Given the description of an element on the screen output the (x, y) to click on. 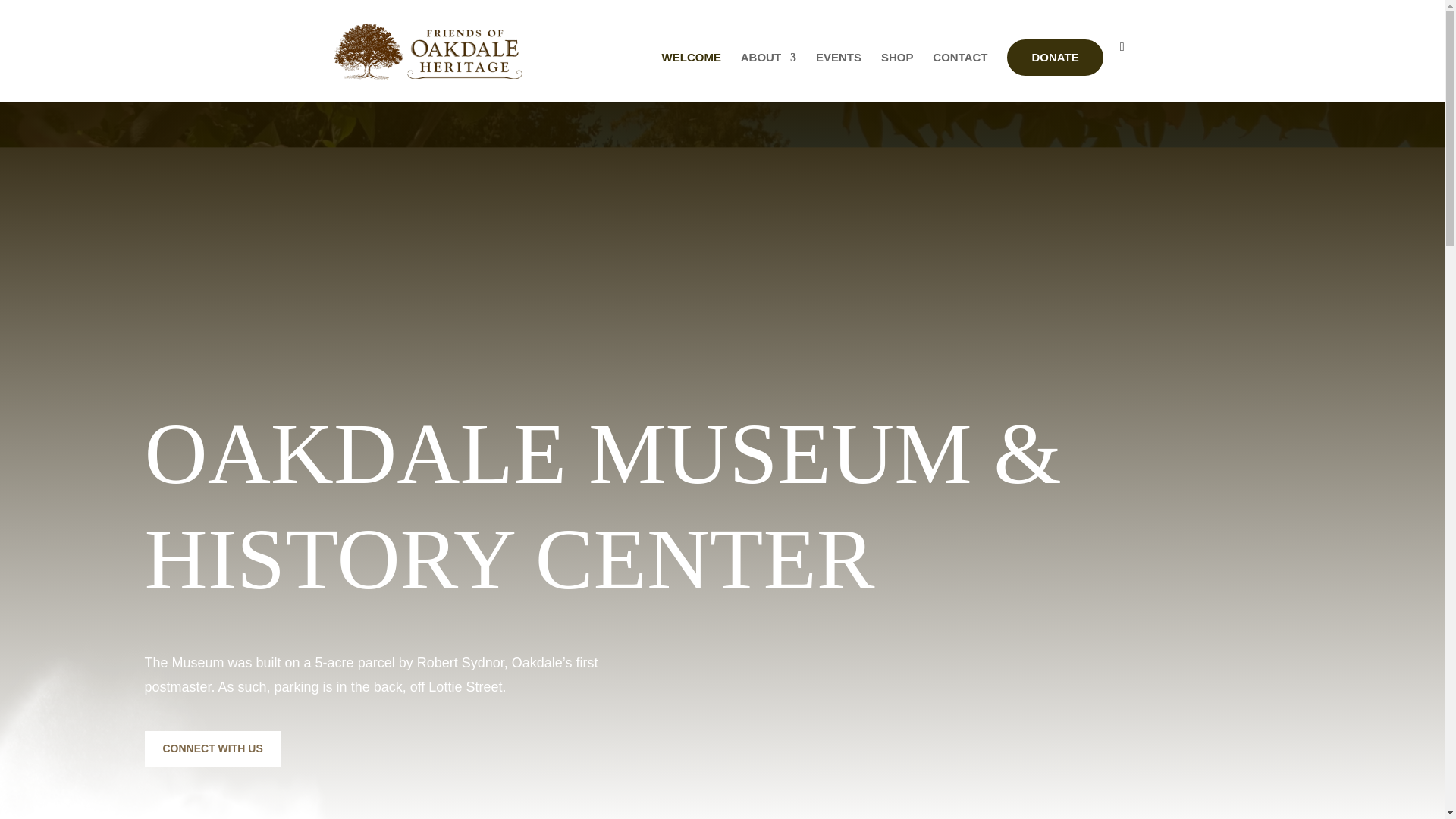
CONNECT WITH US (212, 749)
WELCOME (691, 77)
CONTACT (960, 77)
EVENTS (838, 77)
ABOUT (768, 77)
DONATE (1054, 57)
watercolor-divider-01 (183, 728)
